Given the description of an element on the screen output the (x, y) to click on. 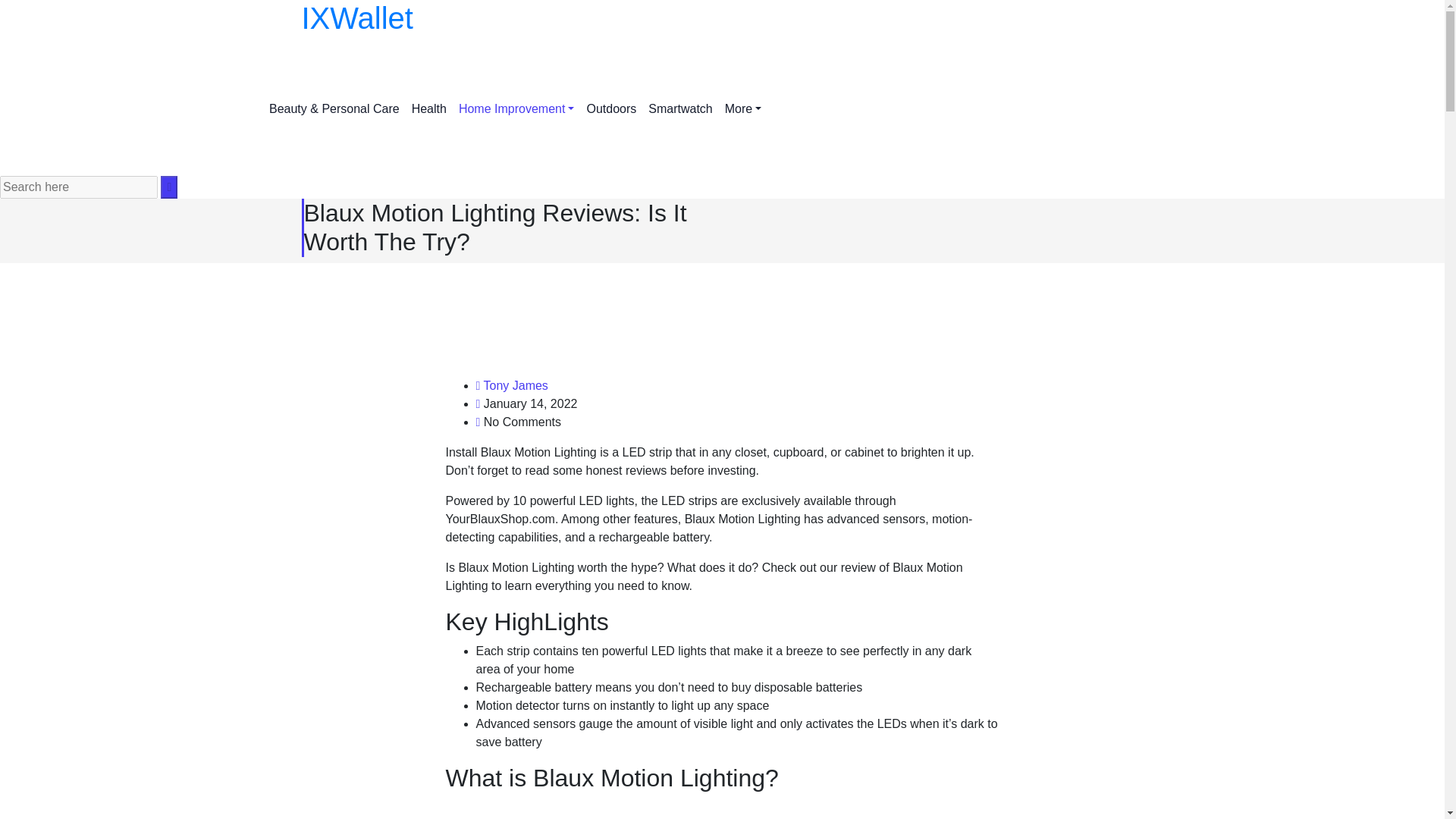
Outdoors (610, 109)
Home Improvement (516, 109)
IXWallet (721, 18)
Tony James (515, 385)
Outdoors (610, 109)
Health (429, 109)
Smartwatch (679, 109)
More (743, 109)
Home Improvement (516, 109)
Health (429, 109)
